Given the description of an element on the screen output the (x, y) to click on. 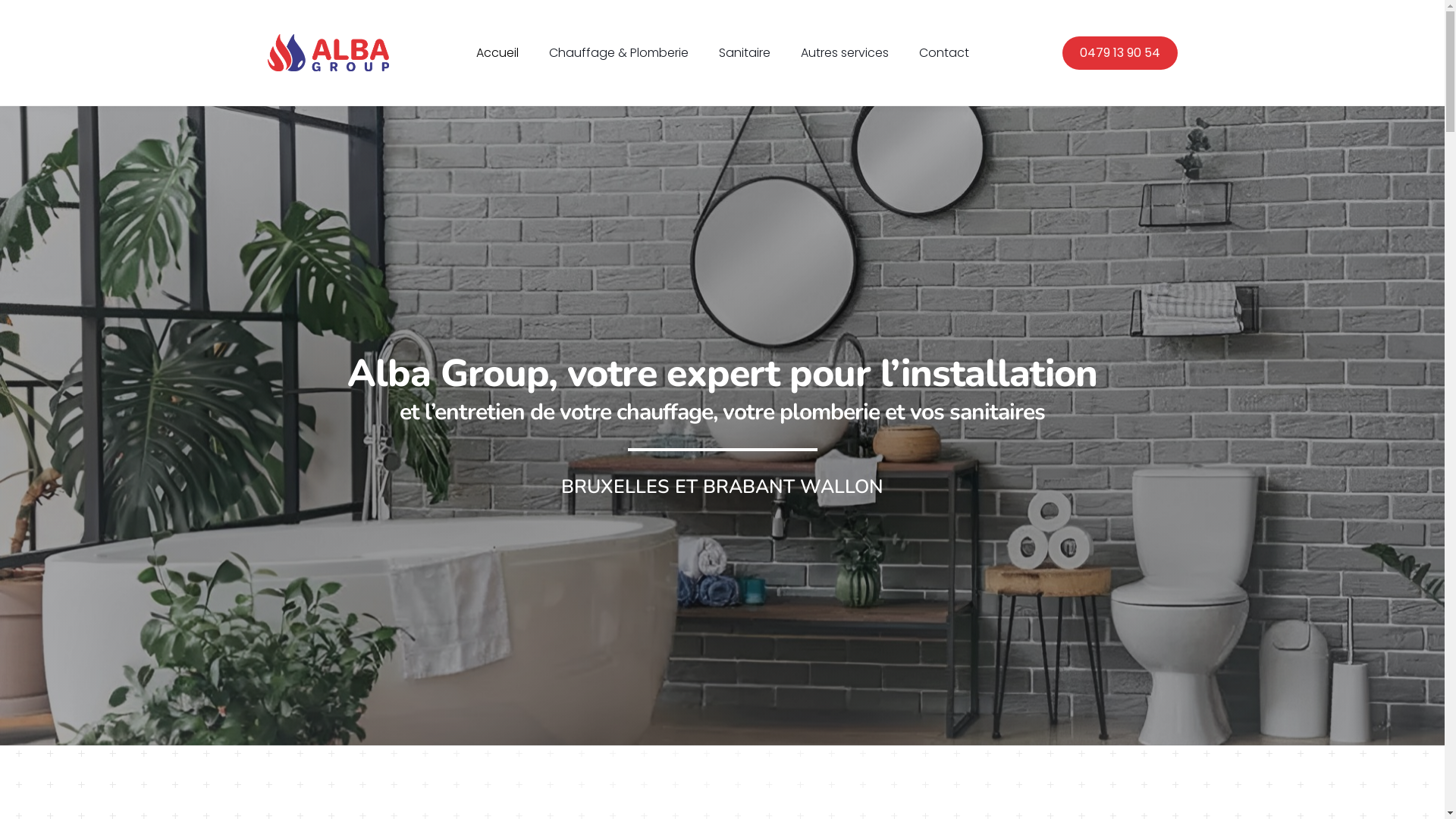
Chauffage & Plomberie Element type: text (618, 52)
Autres services Element type: text (844, 52)
Accueil Element type: text (497, 52)
0479 13 90 54 Element type: text (1118, 52)
Sanitaire Element type: text (744, 52)
Contact Element type: text (943, 52)
